Given the description of an element on the screen output the (x, y) to click on. 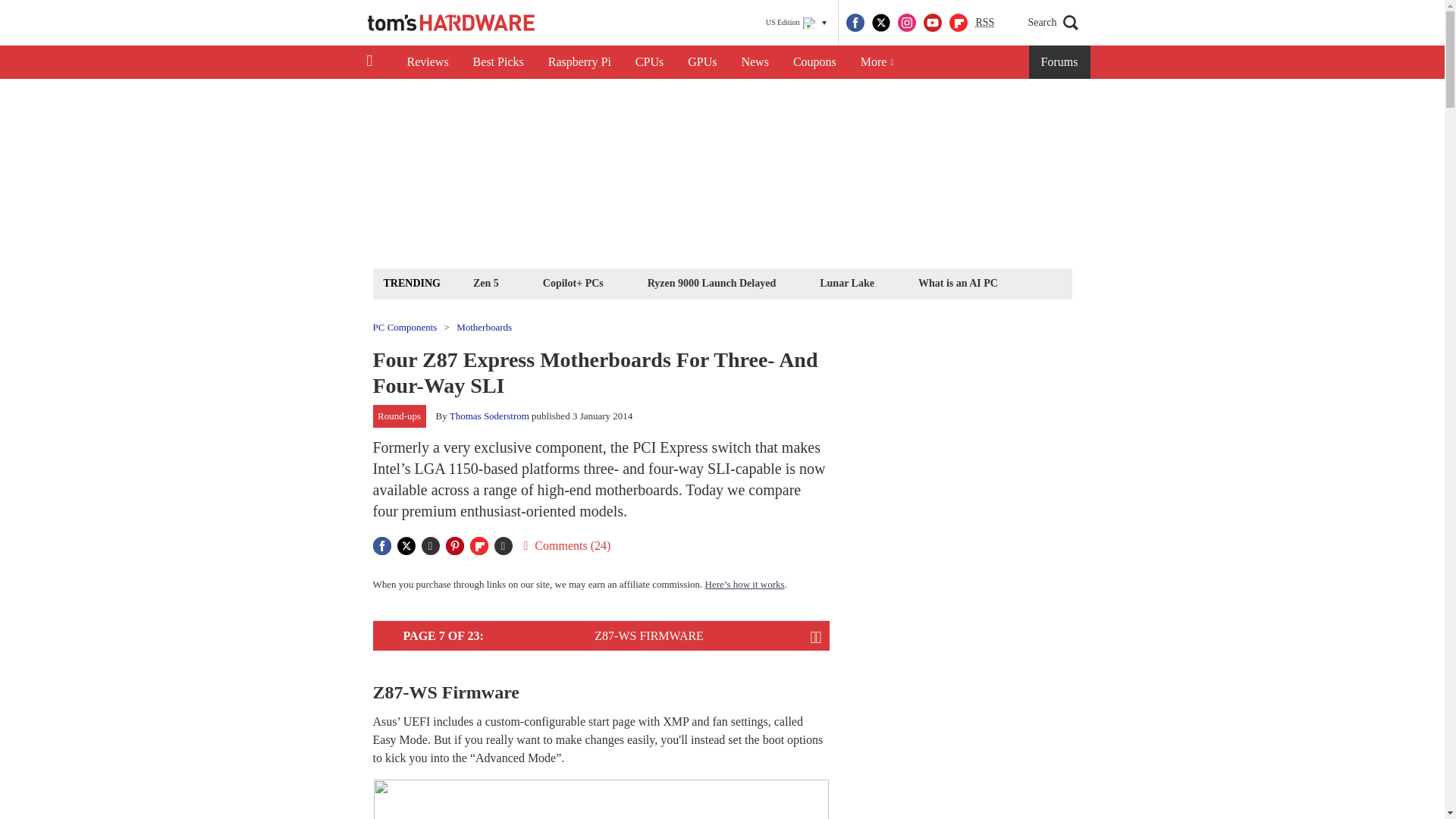
Forums (1059, 61)
News (754, 61)
RSS (984, 22)
Really Simple Syndication (984, 21)
Zen 5 (485, 282)
Reviews (427, 61)
US Edition (796, 22)
Best Picks (498, 61)
Raspberry Pi (579, 61)
Coupons (814, 61)
GPUs (702, 61)
CPUs (649, 61)
